Given the description of an element on the screen output the (x, y) to click on. 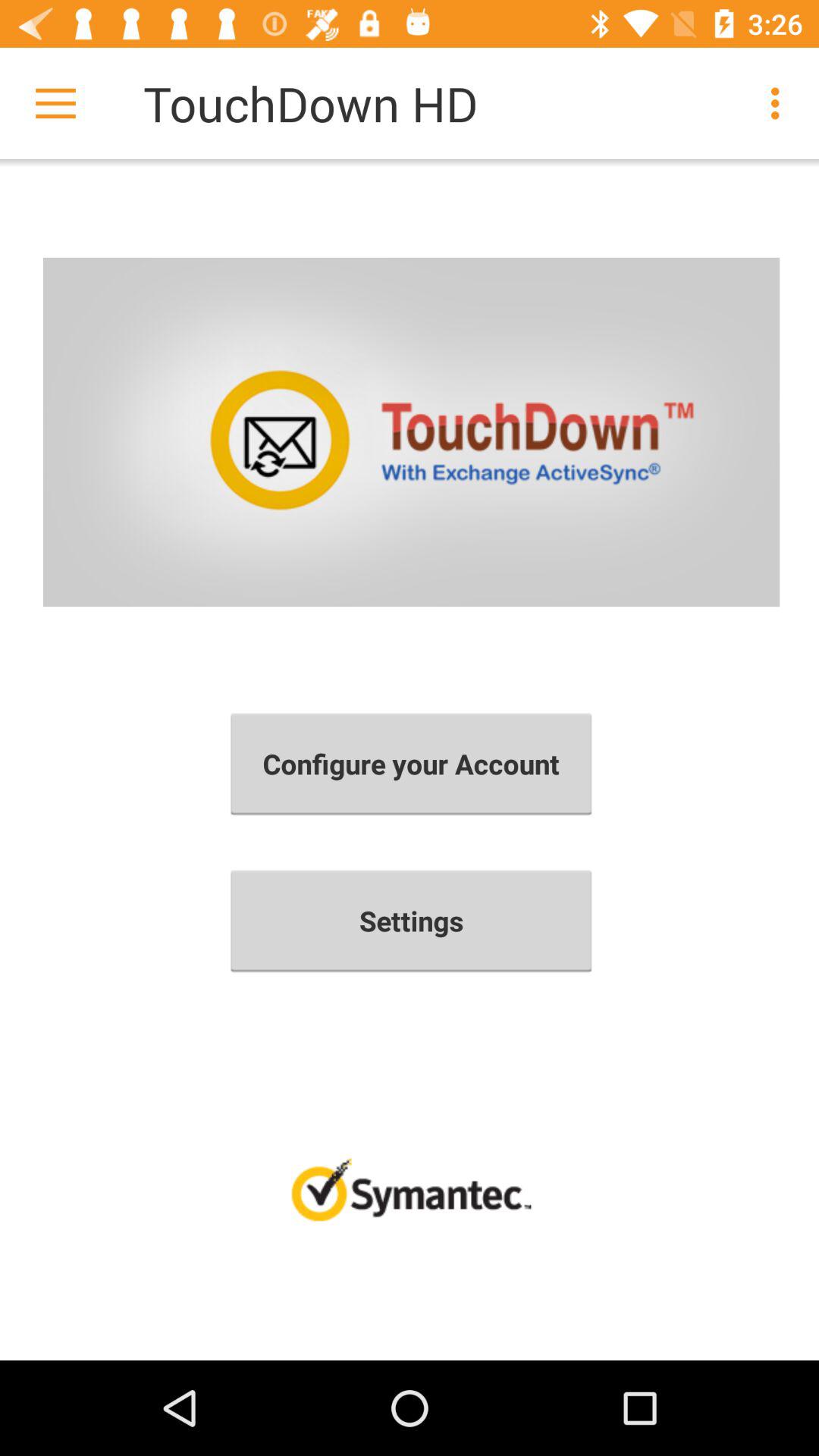
select the icon above settings (410, 763)
